Given the description of an element on the screen output the (x, y) to click on. 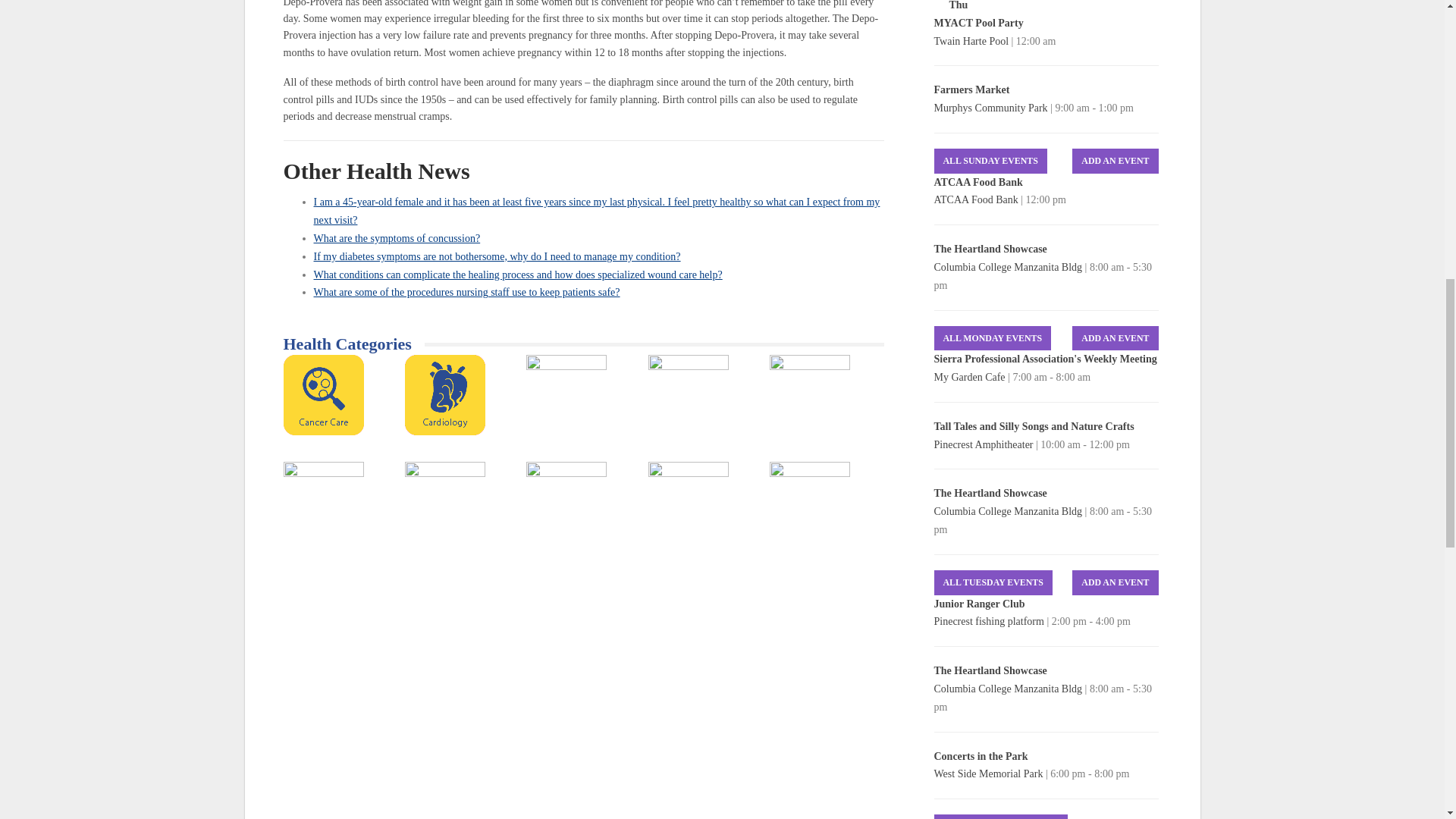
All Monday Events (992, 338)
Add An Event (1114, 338)
Add An Event (1114, 582)
Add An Event (1114, 160)
All Wednesday Events (1001, 816)
All Tuesday Events (993, 582)
Permanent Link to What are the symptoms of concussion? (397, 238)
All Sunday Events (990, 160)
